Given the description of an element on the screen output the (x, y) to click on. 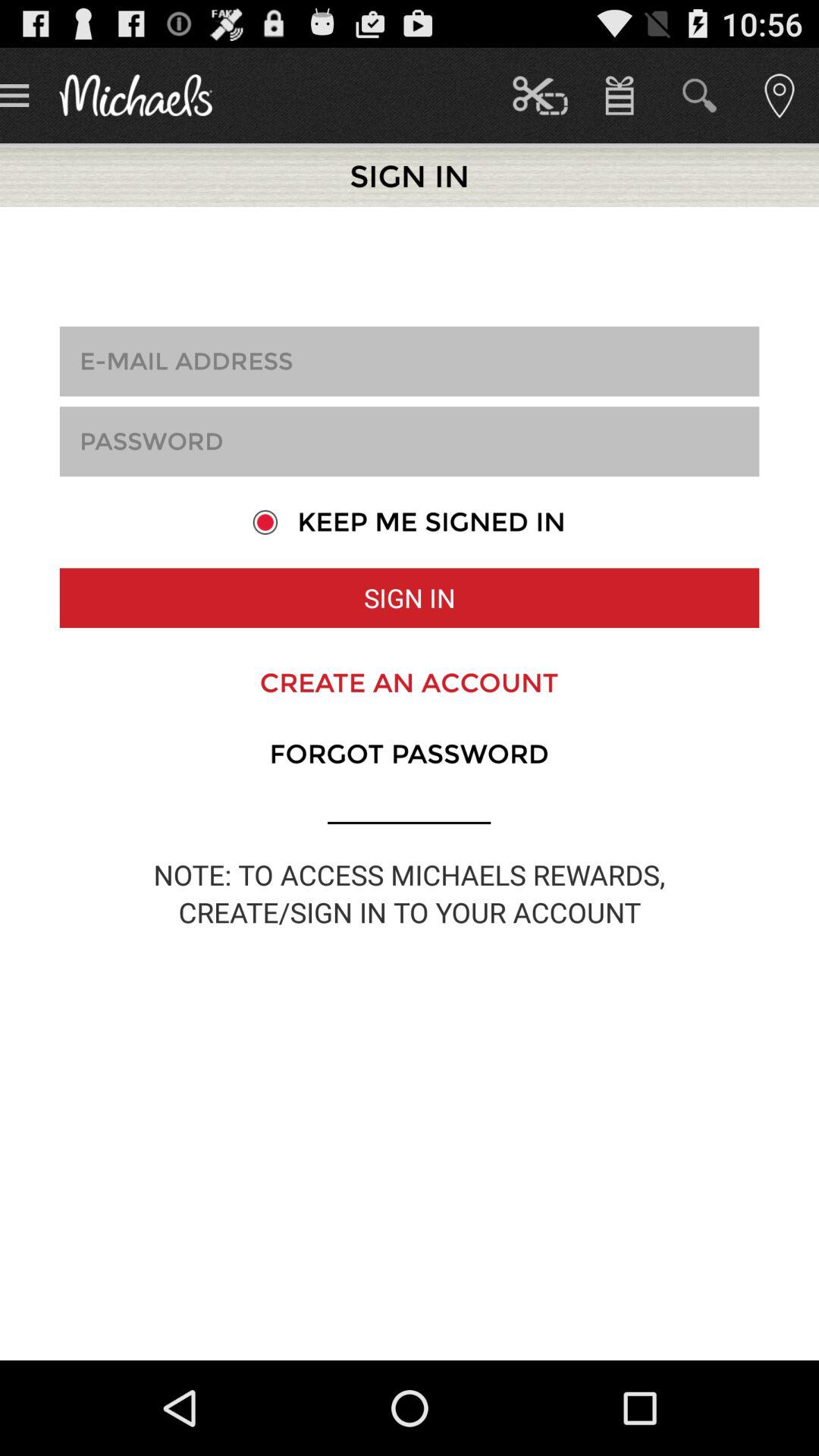
enter password (409, 441)
